Given the description of an element on the screen output the (x, y) to click on. 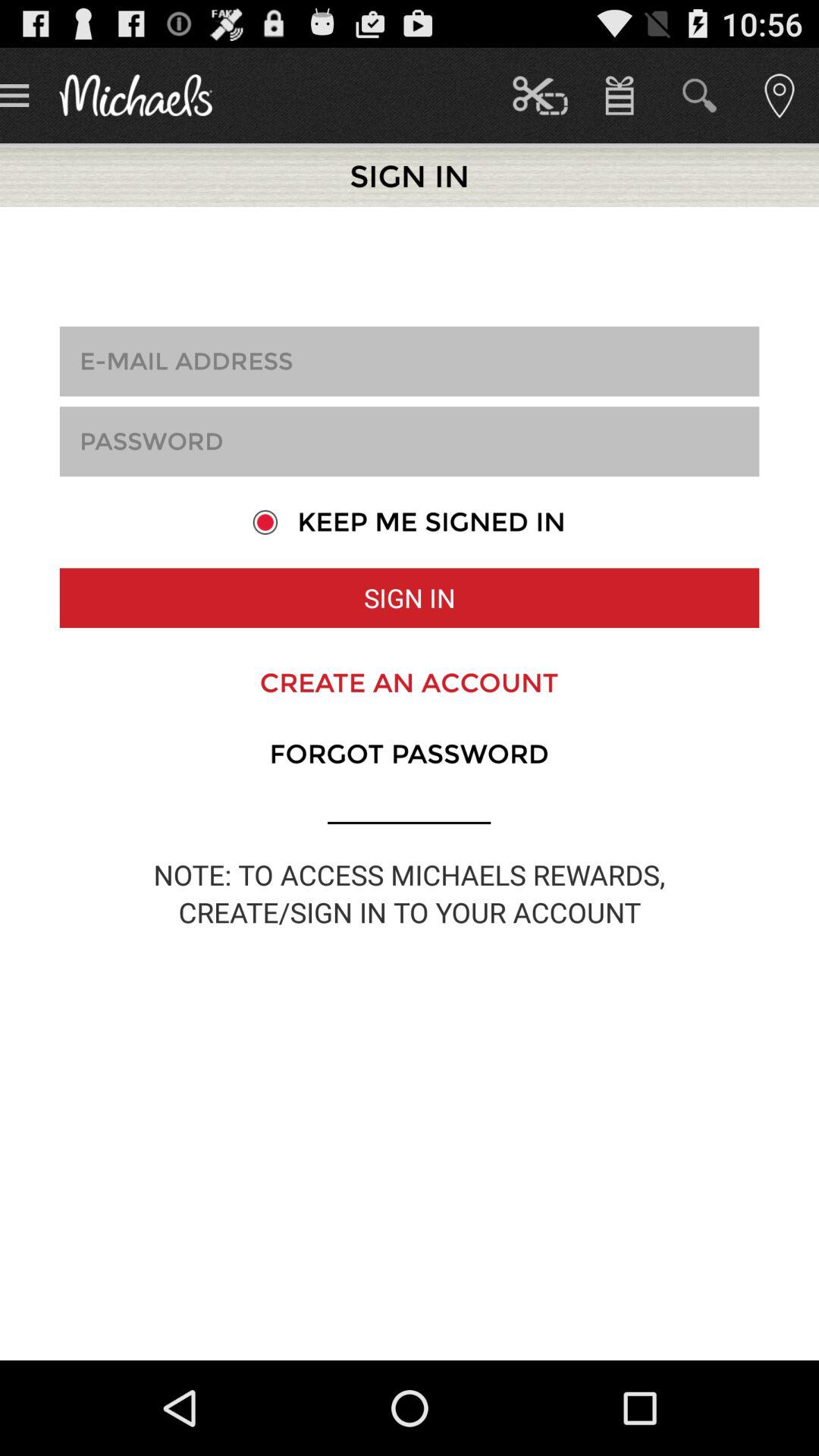
enter password (409, 441)
